Given the description of an element on the screen output the (x, y) to click on. 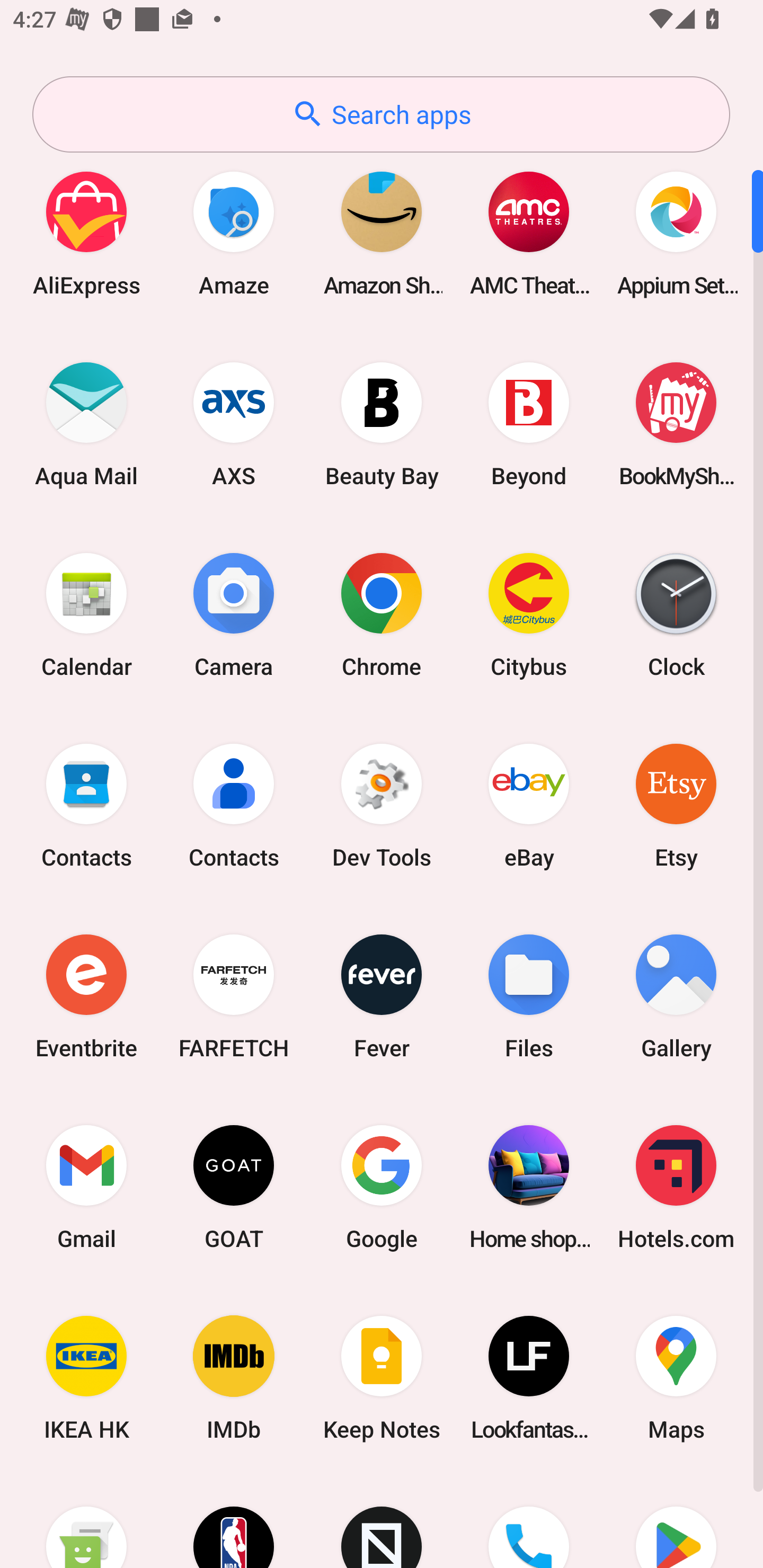
  Search apps (381, 114)
AliExpress (86, 233)
Amaze (233, 233)
Amazon Shopping (381, 233)
AMC Theatres (528, 233)
Appium Settings (676, 233)
Aqua Mail (86, 424)
AXS (233, 424)
Beauty Bay (381, 424)
Beyond (528, 424)
BookMyShow (676, 424)
Calendar (86, 614)
Camera (233, 614)
Chrome (381, 614)
Citybus (528, 614)
Clock (676, 614)
Contacts (86, 805)
Contacts (233, 805)
Dev Tools (381, 805)
eBay (528, 805)
Etsy (676, 805)
Eventbrite (86, 996)
FARFETCH (233, 996)
Fever (381, 996)
Files (528, 996)
Gallery (676, 996)
Gmail (86, 1186)
GOAT (233, 1186)
Google (381, 1186)
Home shopping (528, 1186)
Hotels.com (676, 1186)
IKEA HK (86, 1377)
IMDb (233, 1377)
Keep Notes (381, 1377)
Lookfantastic (528, 1377)
Maps (676, 1377)
